Given the description of an element on the screen output the (x, y) to click on. 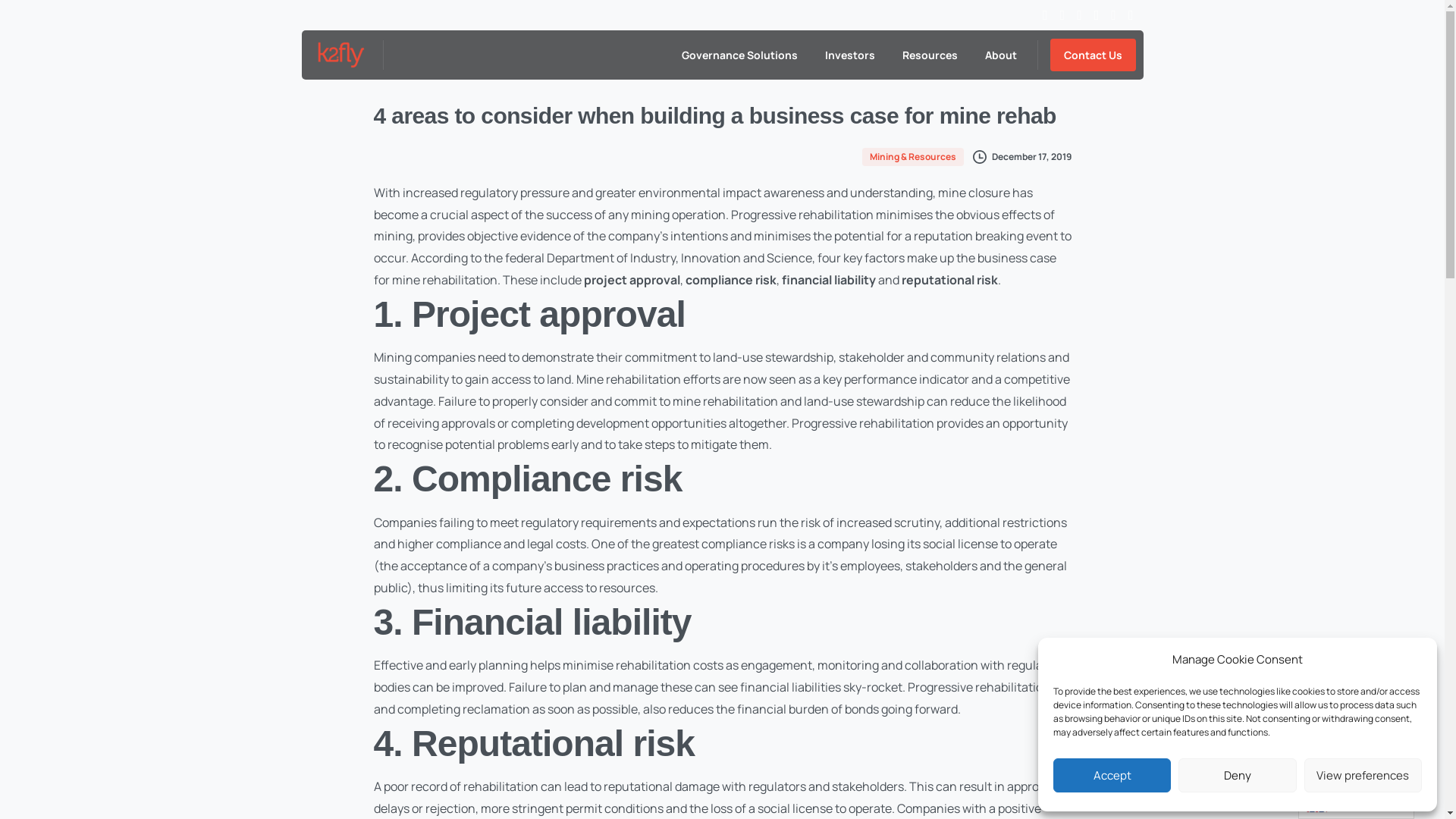
Mining & Resources Element type: text (913, 155)
Facebook Element type: hover (1045, 14)
Resources Element type: text (929, 54)
linkedin Element type: hover (1113, 14)
twitter Element type: hover (1062, 14)
Accept Element type: text (1111, 775)
youtube Element type: hover (1096, 14)
Investors Element type: text (850, 54)
About Element type: text (1000, 54)
December 17, 2019 Element type: text (1021, 155)
View preferences Element type: text (1362, 775)
Governance Solutions Element type: text (738, 54)
Contact Us Element type: text (1092, 54)
vimeo Element type: hover (1079, 14)
AppStore Element type: hover (1130, 14)
Deny Element type: text (1236, 775)
